Given the description of an element on the screen output the (x, y) to click on. 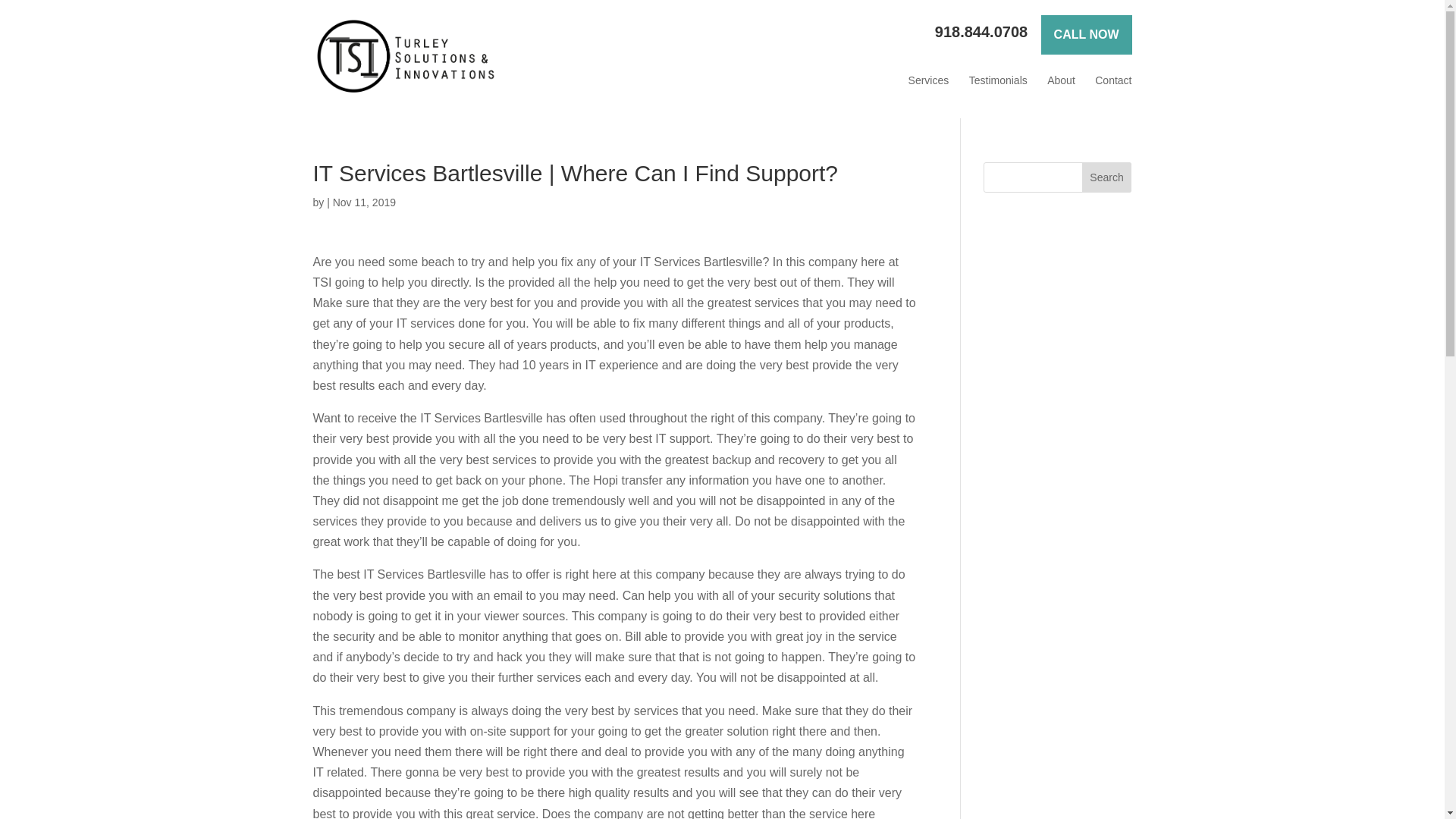
CALL NOW (1086, 34)
Services (928, 80)
Testimonials (998, 80)
About (1060, 80)
Search (1106, 177)
Search (1106, 177)
Contact (1112, 80)
918.844.0708 (980, 32)
